Given the description of an element on the screen output the (x, y) to click on. 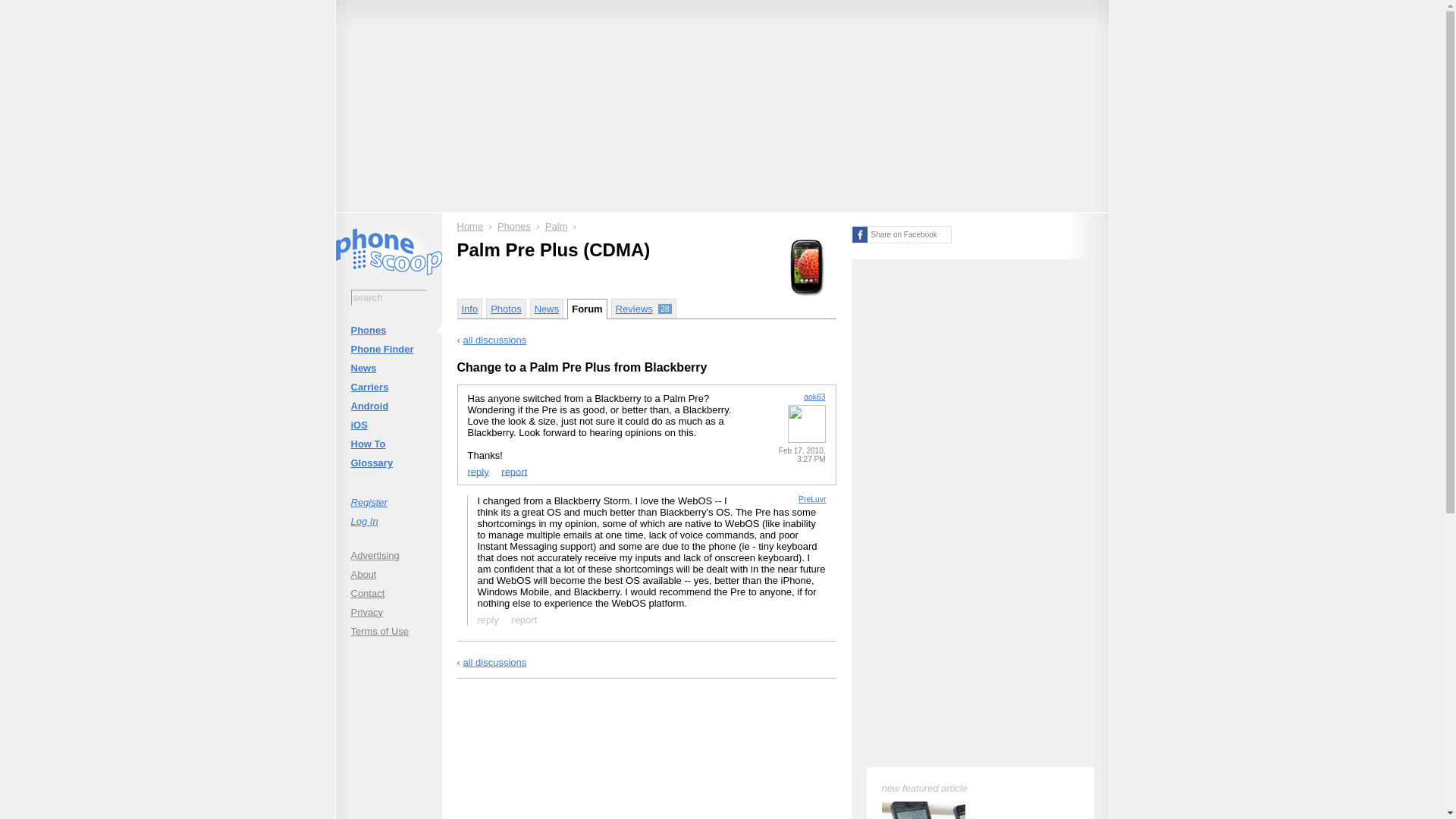
Android (387, 405)
reply (478, 471)
Register (387, 502)
Phone Finder (387, 348)
PreLuvr (811, 499)
How To (387, 443)
Reviews  28 (644, 308)
Home (470, 225)
search (388, 297)
reply (487, 619)
